Given the description of an element on the screen output the (x, y) to click on. 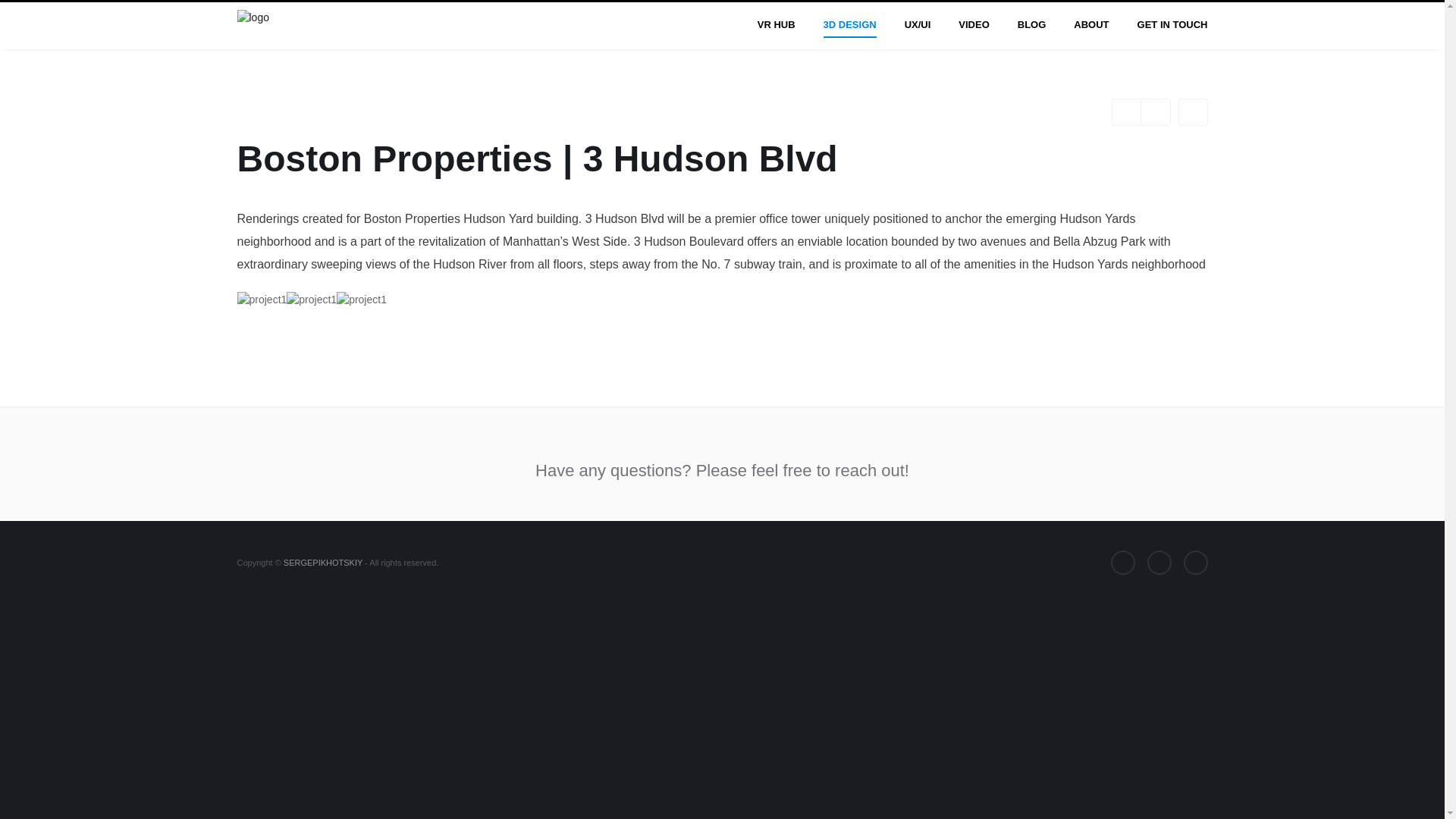
VIDEO (973, 25)
VR HUB (775, 25)
Facebook (1121, 562)
Instagram (1194, 562)
BLOG (1032, 25)
GET IN TOUCH (1166, 25)
ABOUT (1090, 25)
Twitter (1158, 562)
3D DESIGN (850, 25)
SERGEPIKHOTSKIY (322, 562)
